Given the description of an element on the screen output the (x, y) to click on. 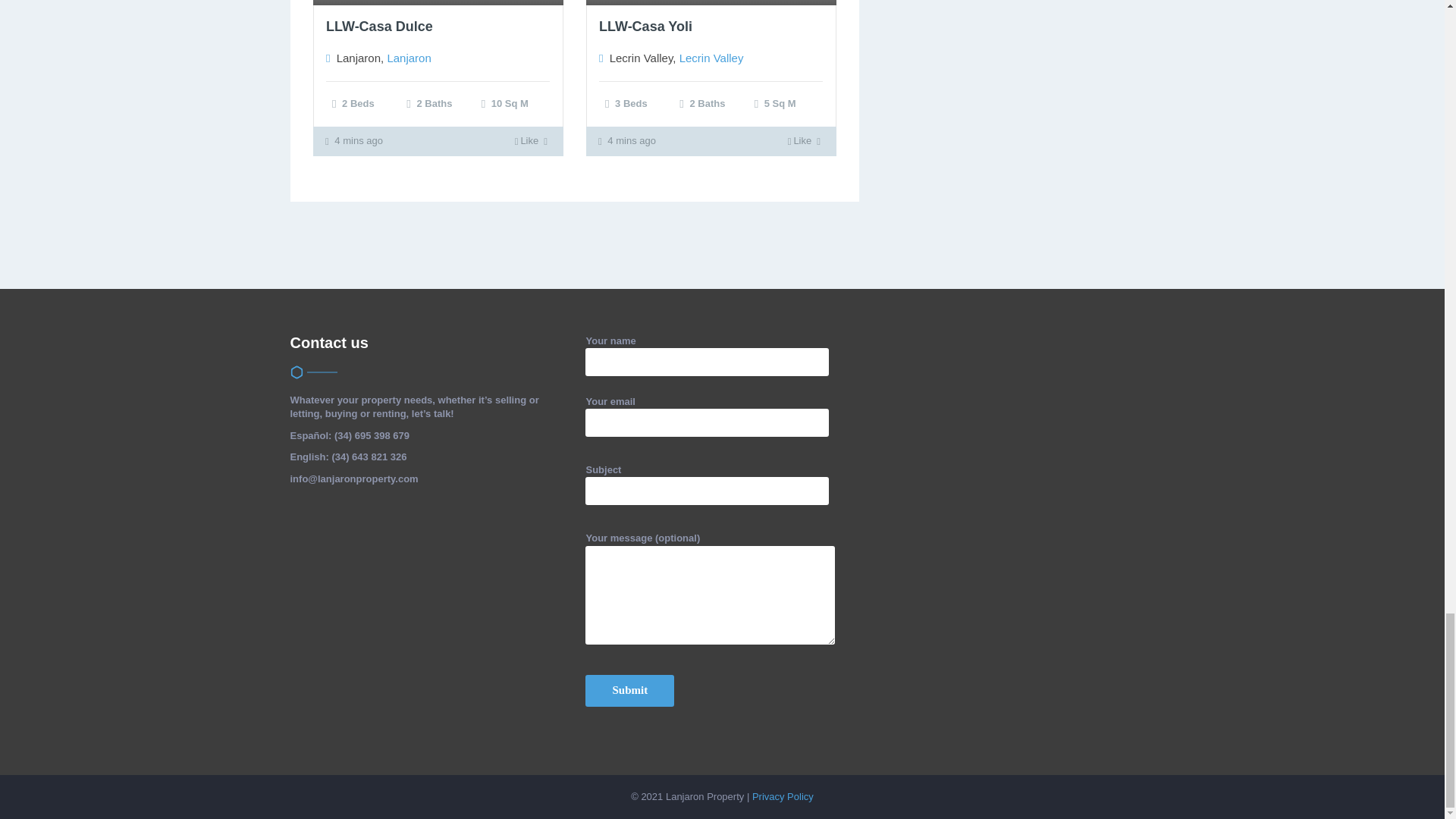
Like (799, 141)
Submit (629, 689)
Like (526, 141)
